Given the description of an element on the screen output the (x, y) to click on. 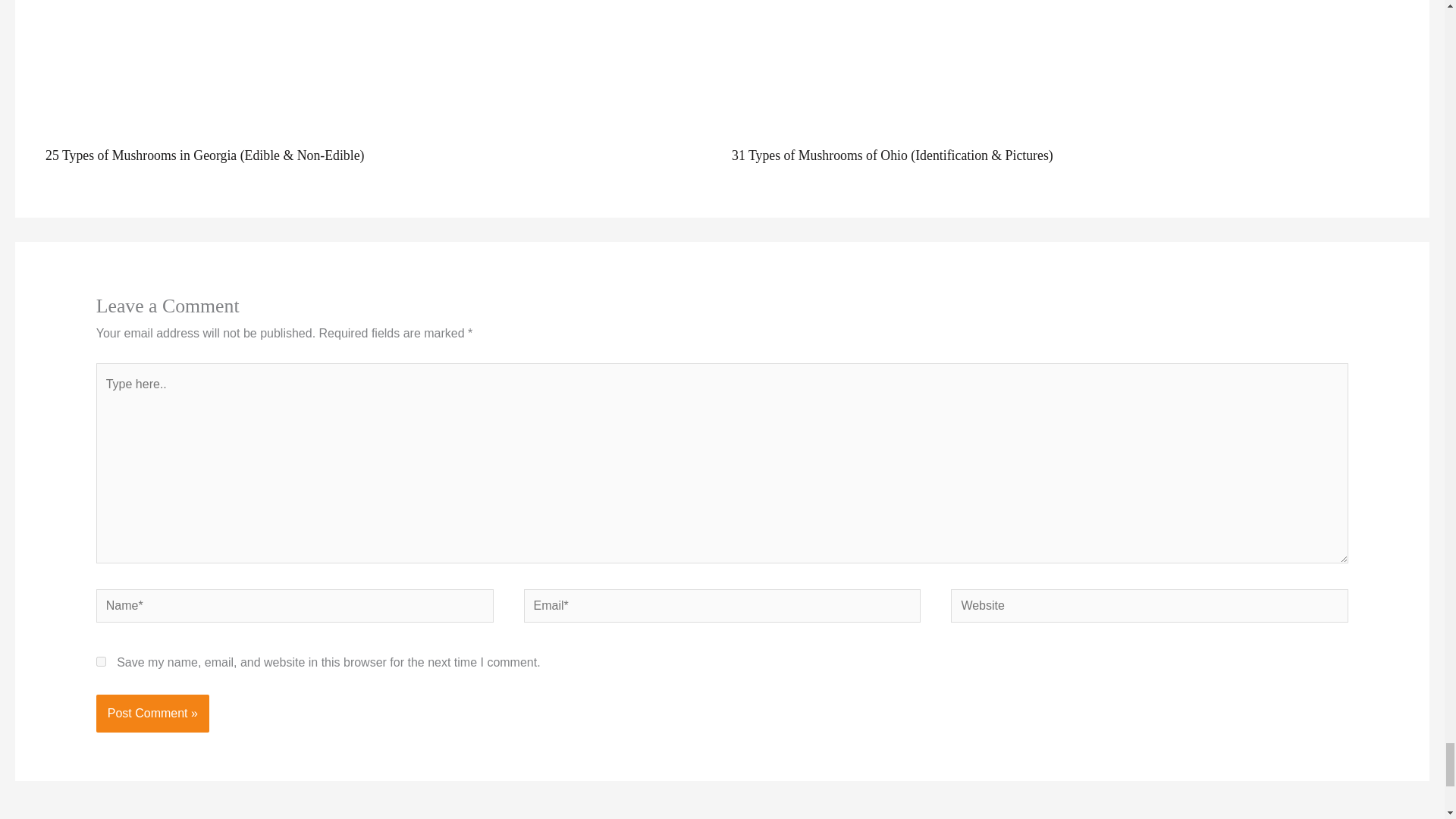
yes (101, 661)
